Given the description of an element on the screen output the (x, y) to click on. 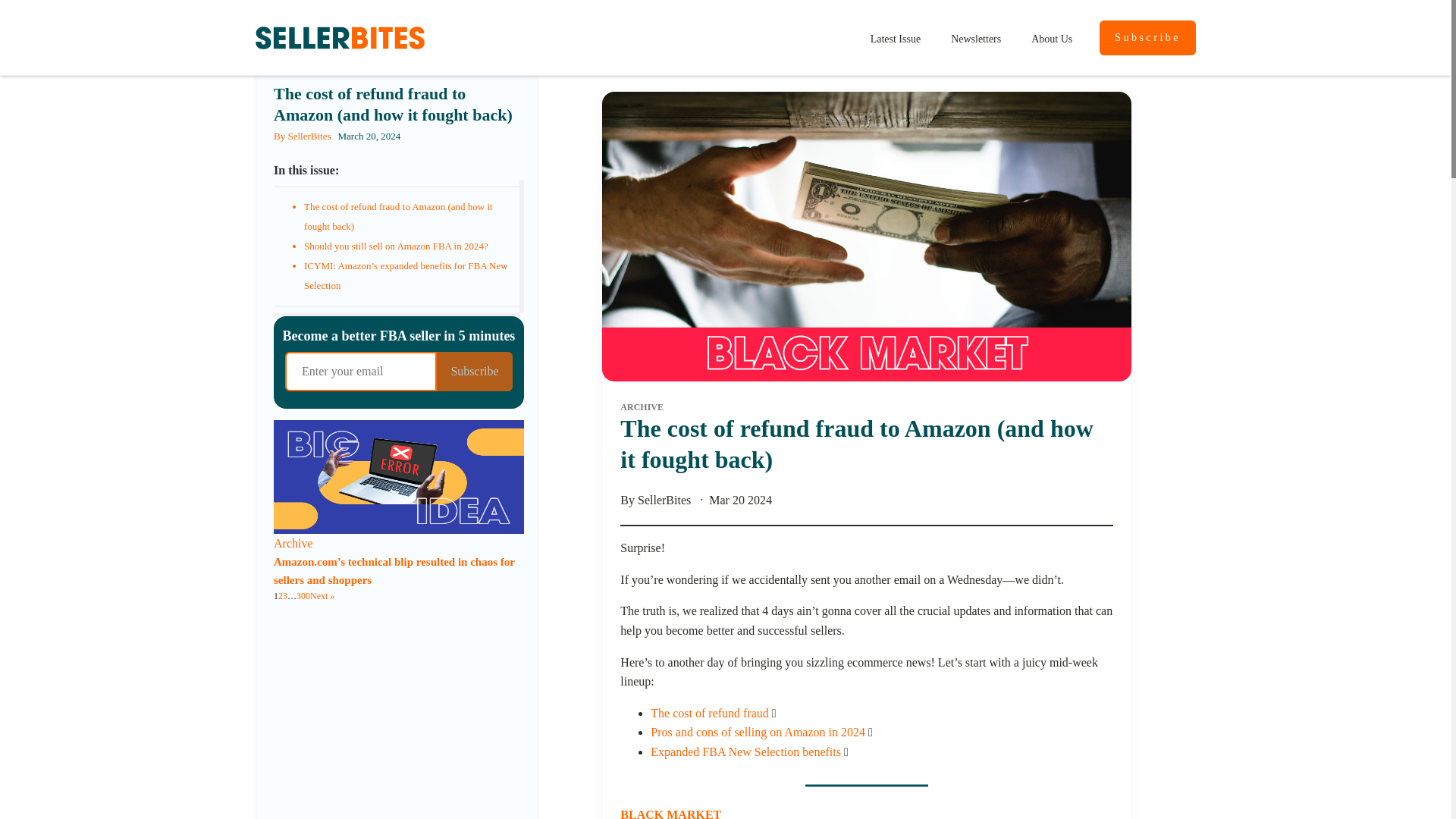
Should you still sell on Amazon FBA in 2024? (395, 245)
Archive (293, 543)
Expanded FBA New Selection benefits (745, 751)
Newsletters (976, 37)
300 (303, 595)
Latest Issue (896, 37)
The cost of refund fraud (709, 712)
Pros and cons of selling on Amazon in 2024 (757, 731)
About Us (1051, 37)
Subscribe (1147, 38)
